Given the description of an element on the screen output the (x, y) to click on. 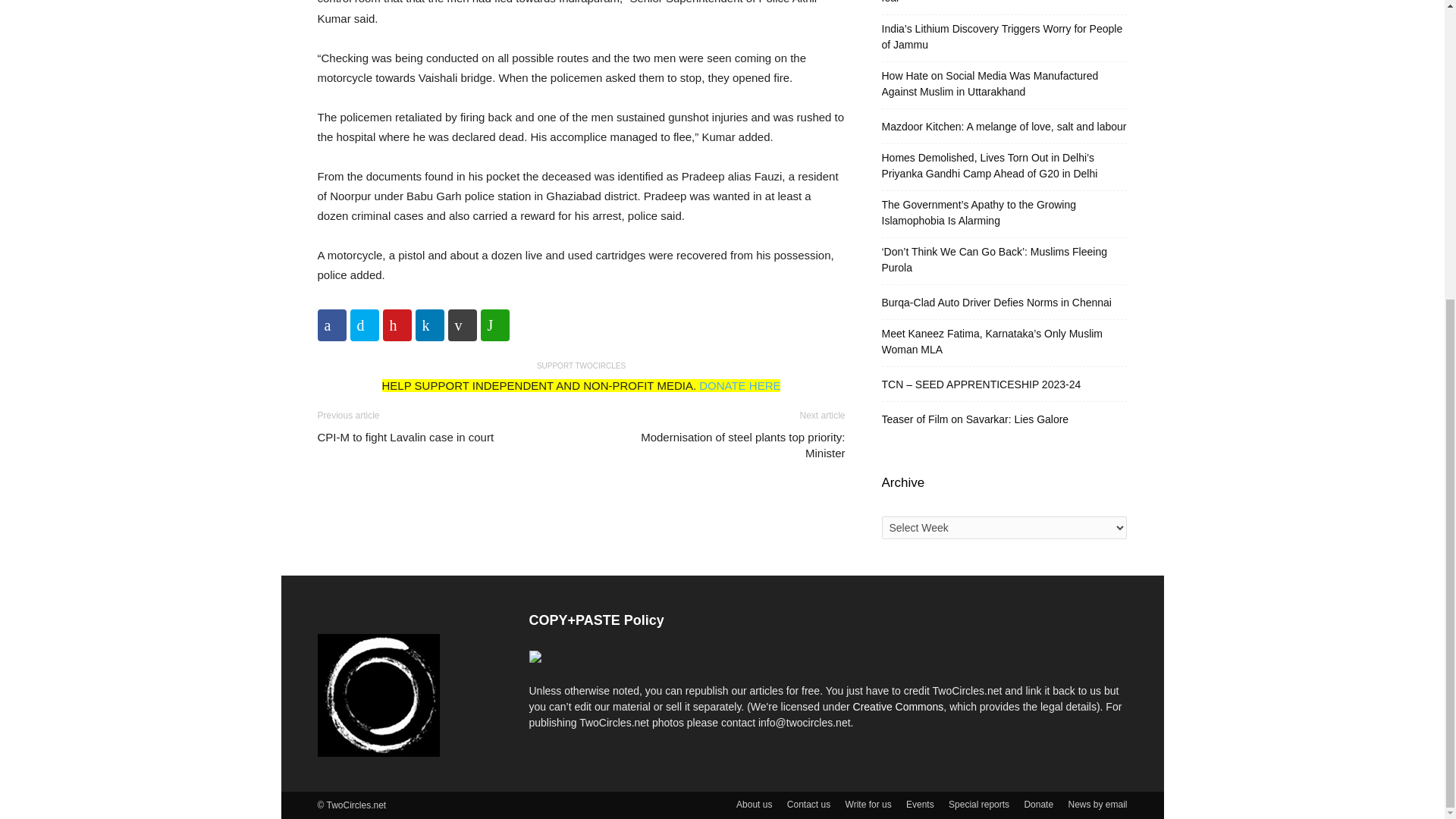
Share on Pinterest (395, 324)
Share on WhatsApp (494, 324)
Share on LinkedIn (429, 324)
Share on Email (461, 324)
Share on Twitter (364, 324)
Share on Facebook (331, 324)
